Given the description of an element on the screen output the (x, y) to click on. 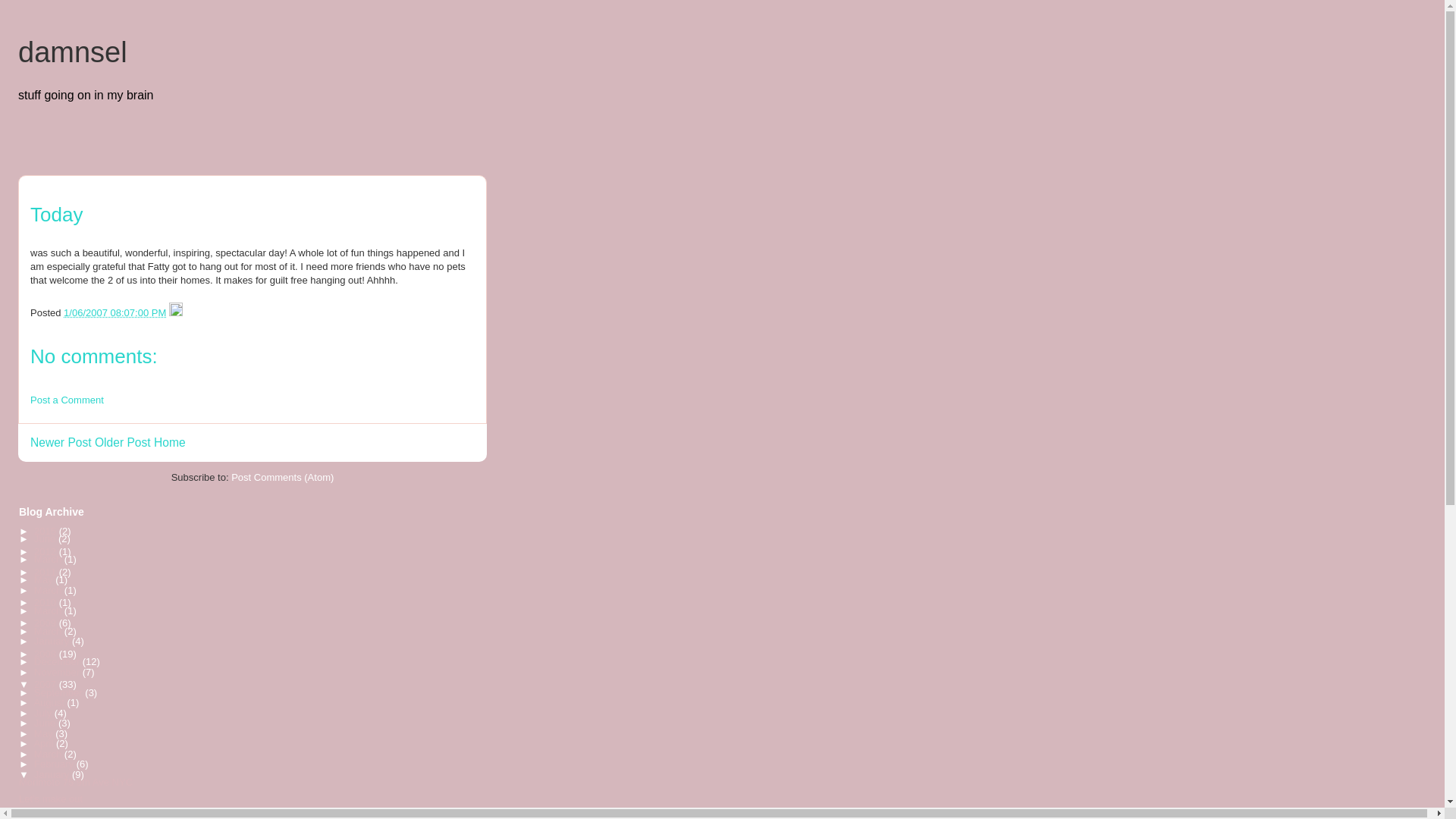
November (57, 672)
January (52, 641)
2009 (46, 622)
permanent link (114, 312)
damnsel (72, 51)
Newer Post (60, 441)
2012 (46, 551)
2010 (46, 602)
March (48, 631)
Home (170, 441)
Older Post (122, 441)
June (45, 538)
Newer Post (60, 441)
March (48, 610)
2015 (46, 531)
